Given the description of an element on the screen output the (x, y) to click on. 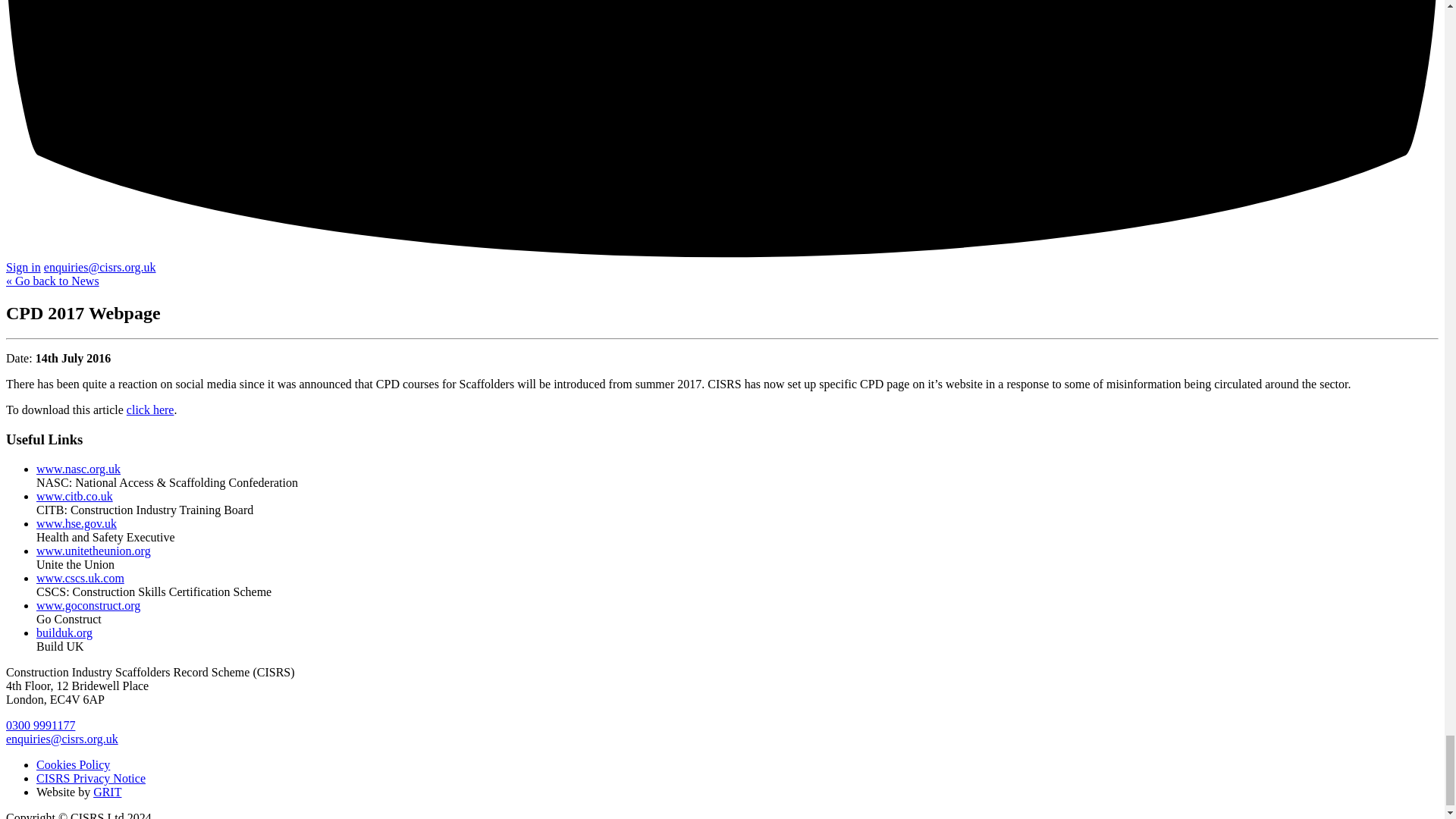
www.unitetheunion.org (93, 550)
www.hse.gov.uk (76, 522)
www.citb.co.uk (74, 495)
www.nasc.org.uk (78, 468)
click here (150, 409)
www.goconstruct.org (87, 604)
www.cscs.uk.com (79, 577)
builduk.org (64, 632)
0300 9991177 (40, 725)
